Given the description of an element on the screen output the (x, y) to click on. 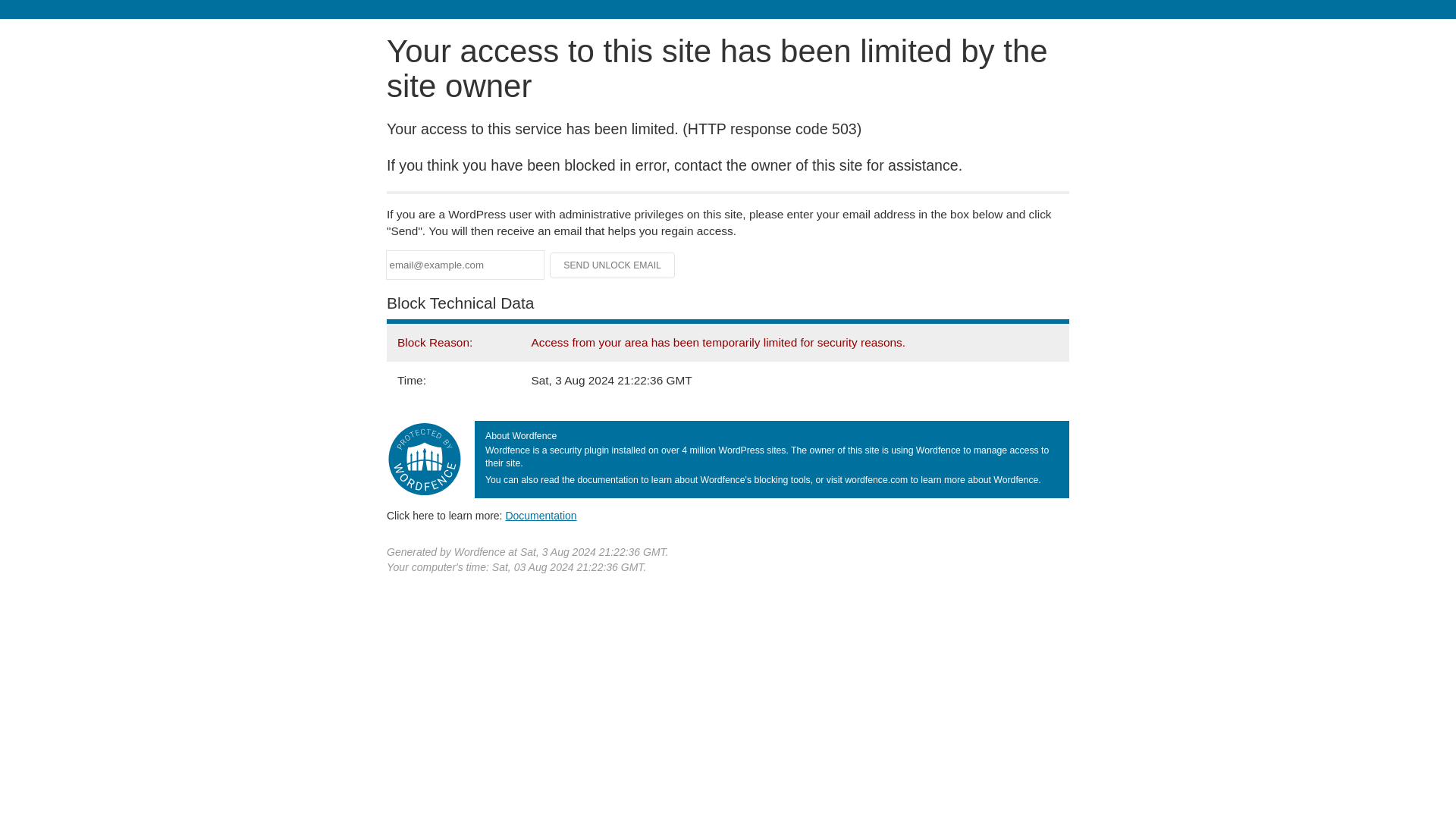
Send Unlock Email (612, 265)
Send Unlock Email (612, 265)
Documentation (540, 515)
